Given the description of an element on the screen output the (x, y) to click on. 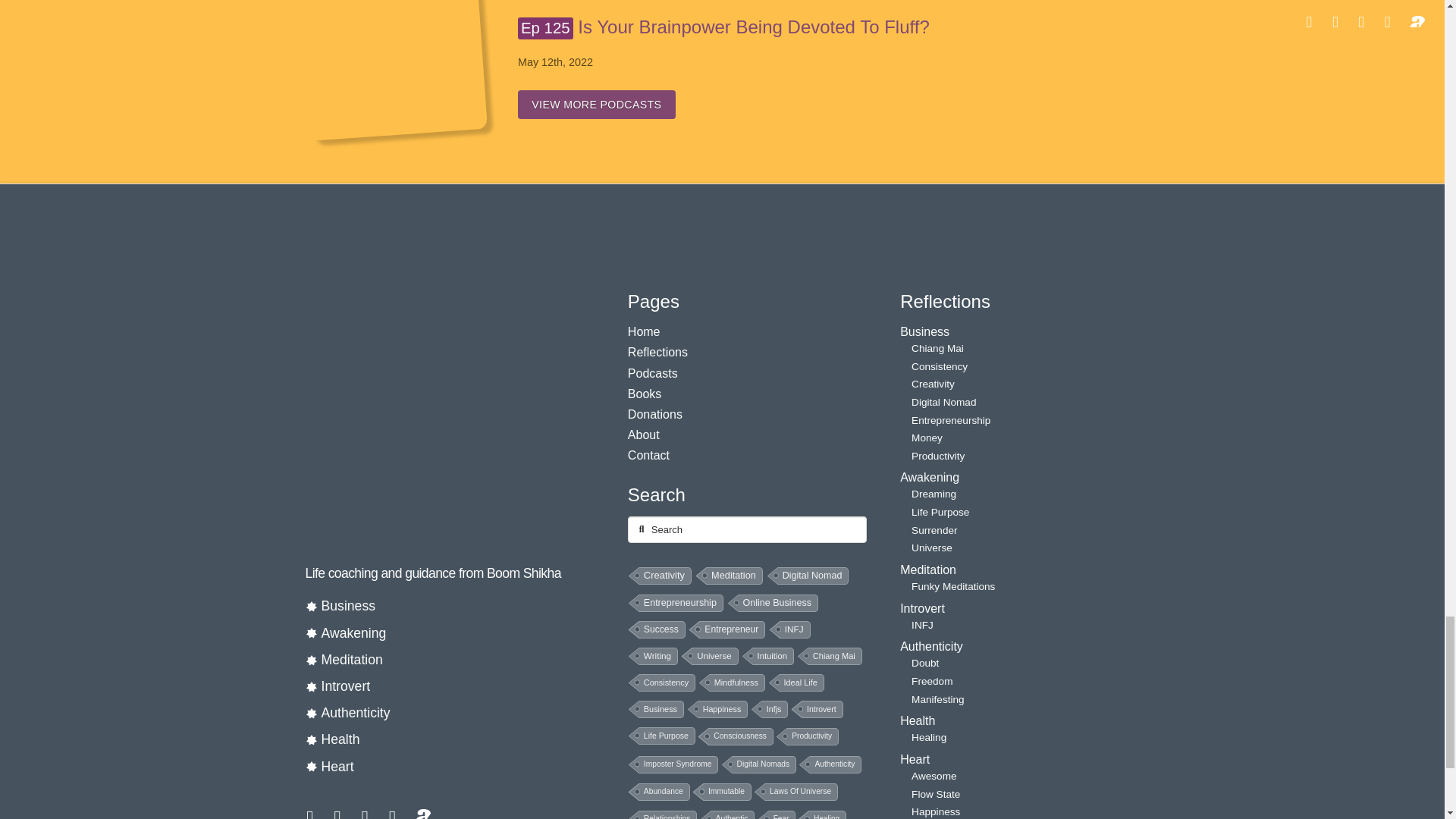
Home (653, 301)
Podcasts (391, 67)
The Millionaire Hippie (437, 412)
